Given the description of an element on the screen output the (x, y) to click on. 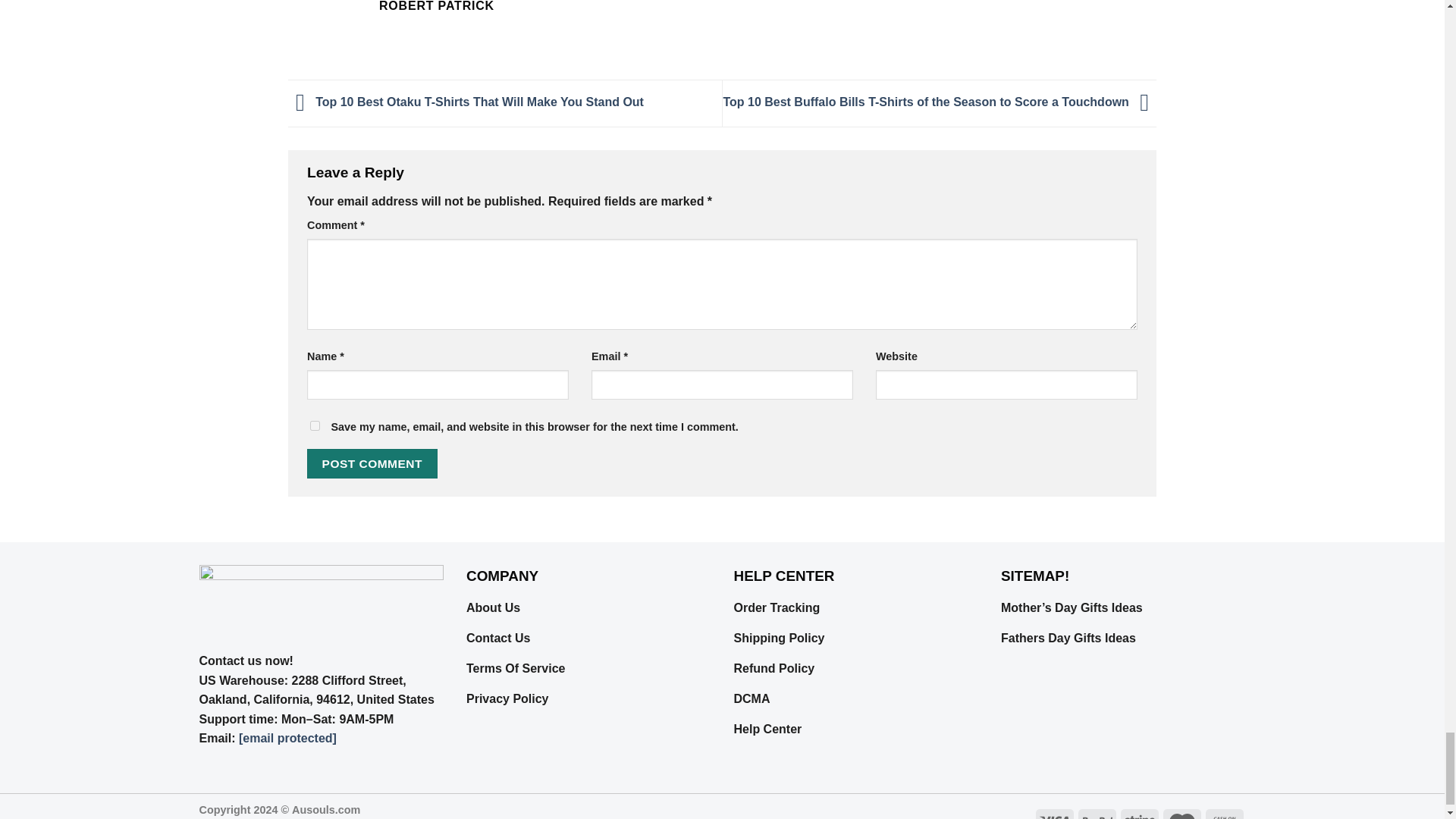
yes (315, 425)
Post Comment (372, 463)
